Given the description of an element on the screen output the (x, y) to click on. 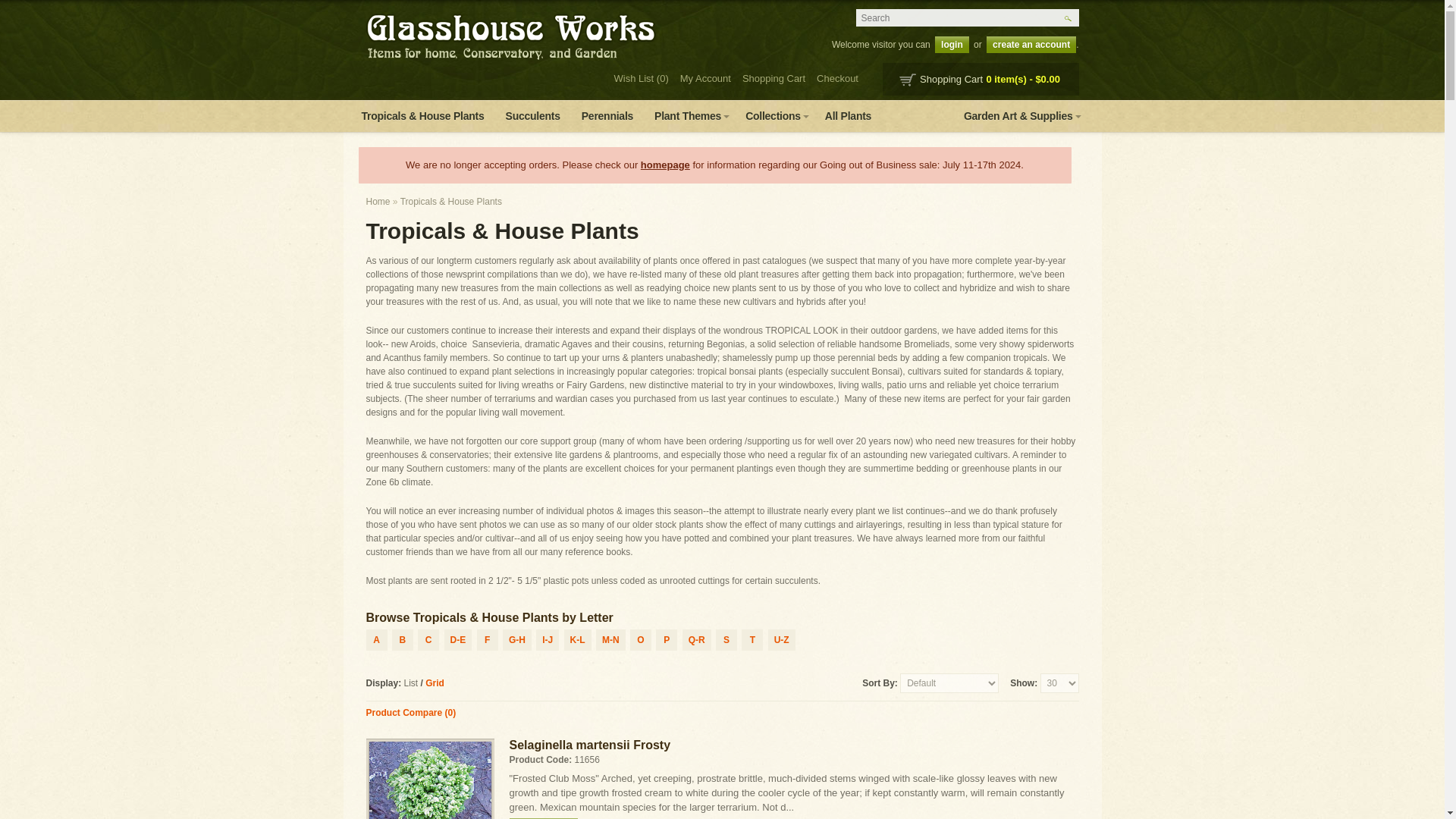
create an account (1031, 44)
Collections (774, 115)
Selaginella martensii Frosty (429, 780)
Checkout (834, 78)
Glasshouse Works (510, 36)
Shopping Cart (770, 78)
Plant Themes (689, 115)
Succulents (532, 115)
Perennials (606, 115)
My Account (702, 78)
login (951, 44)
